Given the description of an element on the screen output the (x, y) to click on. 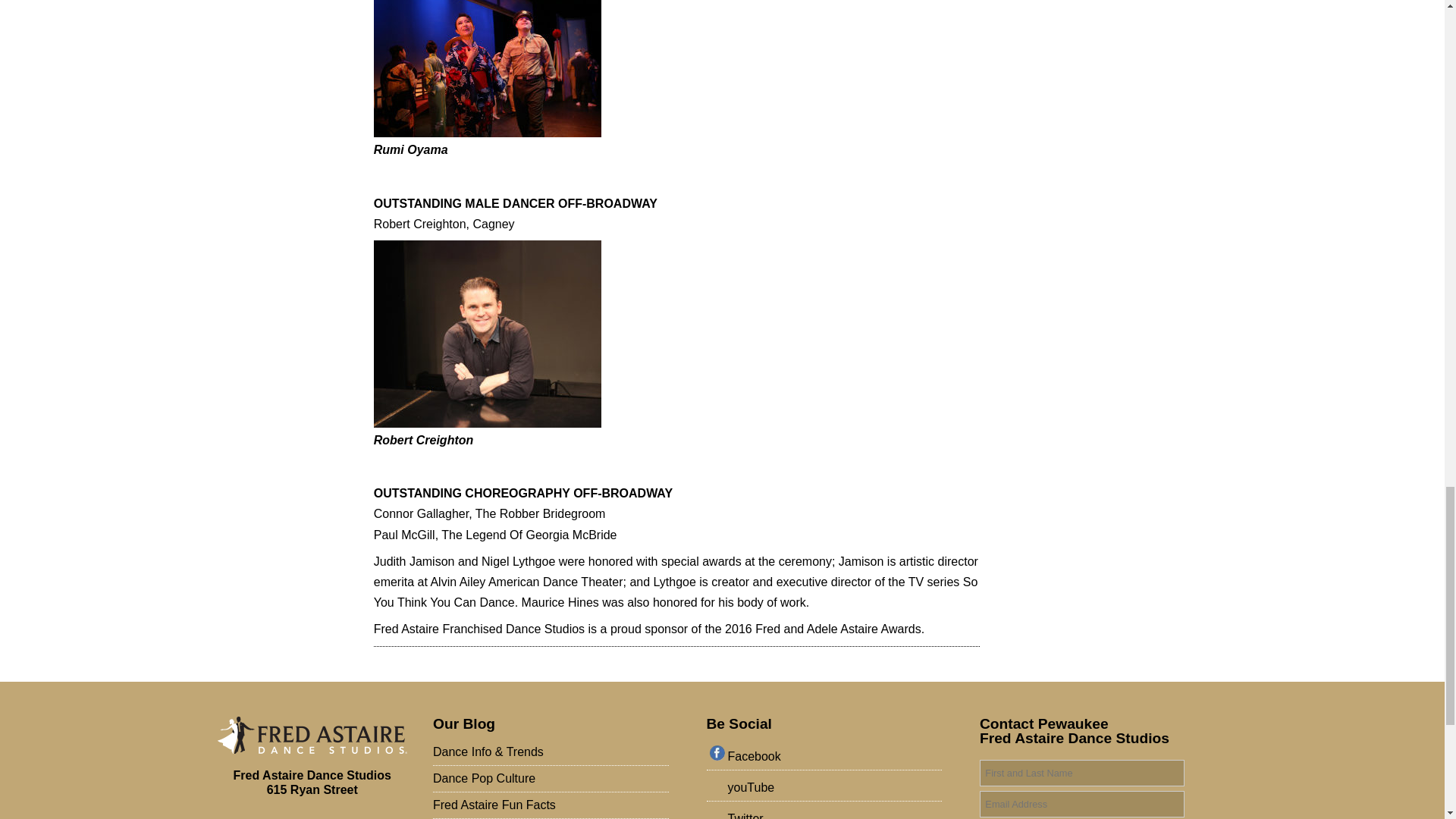
Facebook (827, 757)
follow us on Twitter (827, 813)
Dance Pop Culture (550, 778)
Twitter (827, 813)
youTube (827, 788)
find us on facebook (827, 757)
watch us on YouTube (827, 788)
Fred Astaire Fun Facts (550, 805)
